Given the description of an element on the screen output the (x, y) to click on. 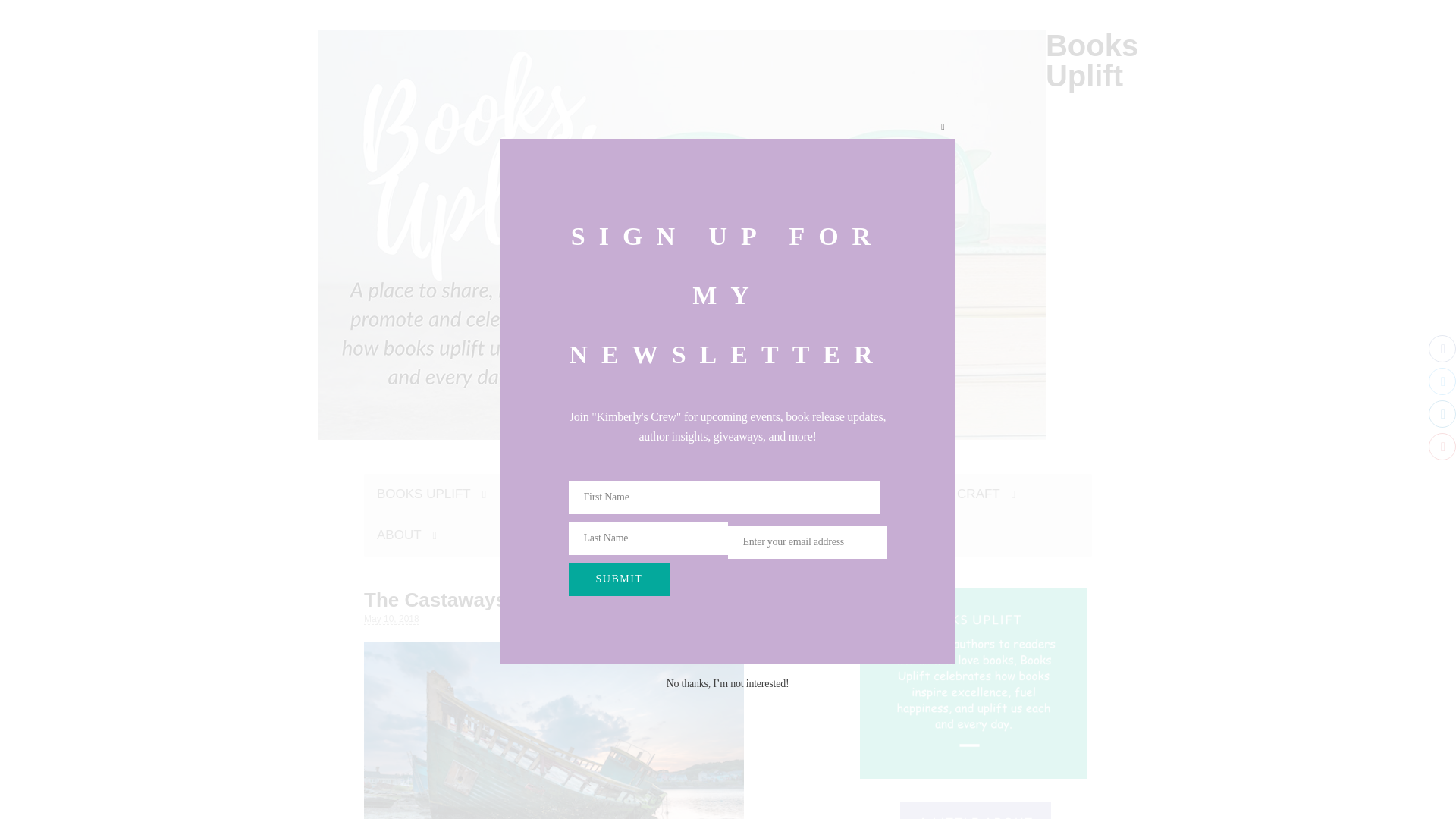
BOOKS 4 FUN (840, 494)
Books Uplift (1091, 60)
BOOK TALK (555, 494)
BOOKS 4 SUCCESS (693, 494)
BOOKS UPLIFT (431, 494)
BOOK CRAFT (964, 494)
ABOUT (406, 535)
